Given the description of an element on the screen output the (x, y) to click on. 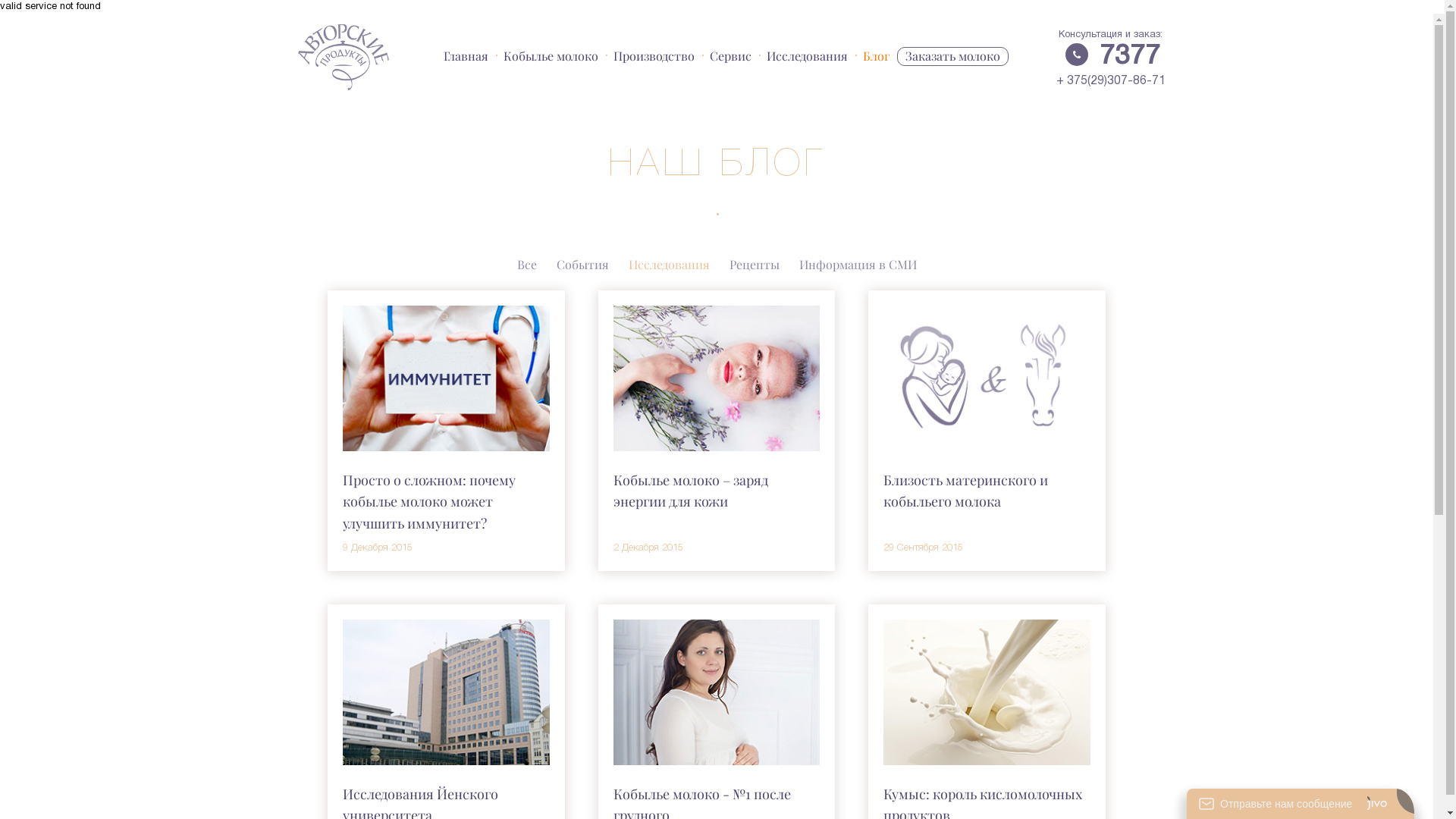
7377 Element type: text (1129, 56)
+ 375(29)307-86-71 Element type: text (1109, 80)
